Given the description of an element on the screen output the (x, y) to click on. 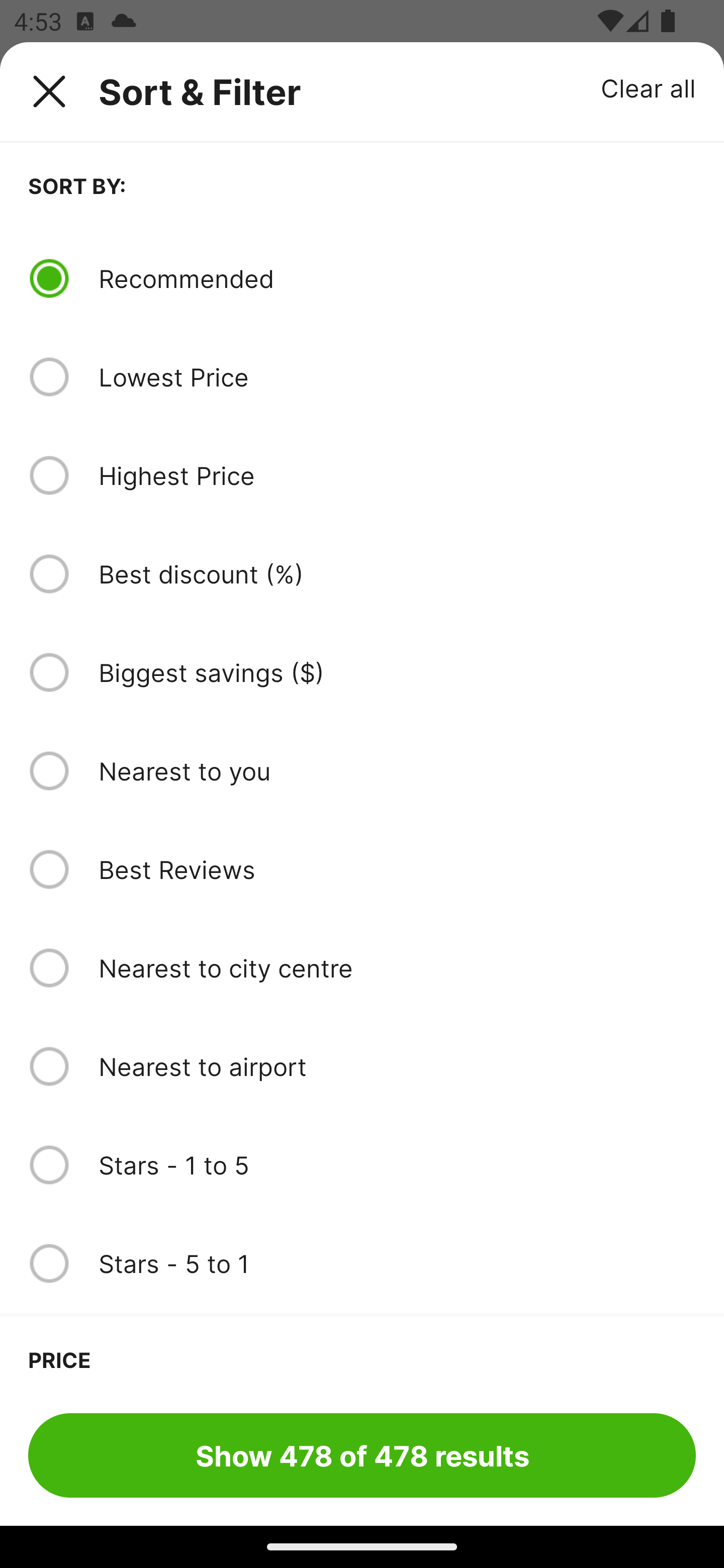
Clear all (648, 87)
Recommended  (396, 278)
Lowest Price (396, 377)
Highest Price (396, 474)
Best discount (%) (396, 573)
Biggest savings ($) (396, 672)
Nearest to you (396, 770)
Best Reviews (396, 869)
Nearest to city centre (396, 968)
Nearest to airport (396, 1065)
Stars - 1 to 5 (396, 1164)
Stars - 5 to 1 (396, 1263)
Show 478 of 478 results (361, 1454)
